Given the description of an element on the screen output the (x, y) to click on. 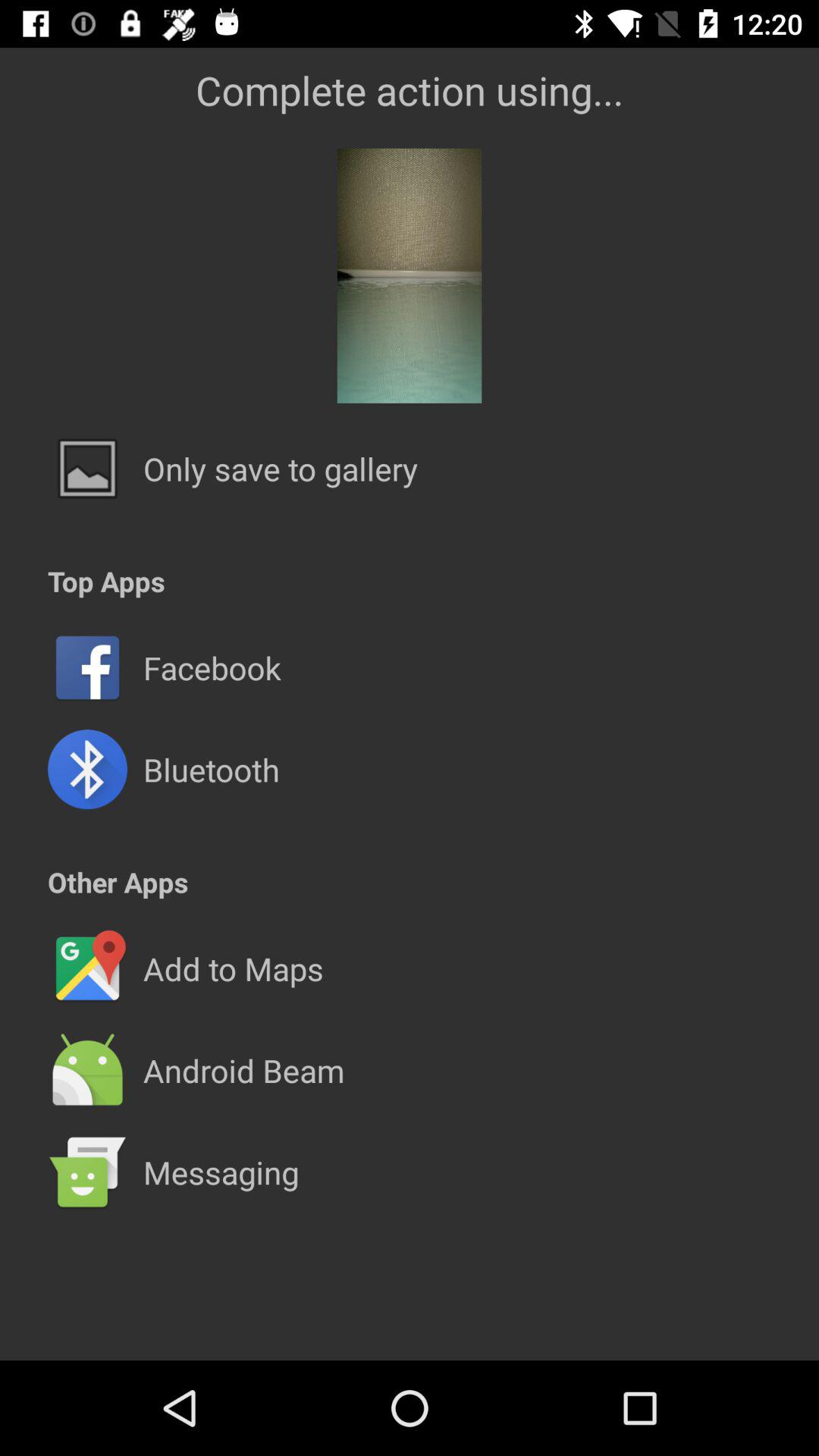
scroll to the messaging item (221, 1171)
